Given the description of an element on the screen output the (x, y) to click on. 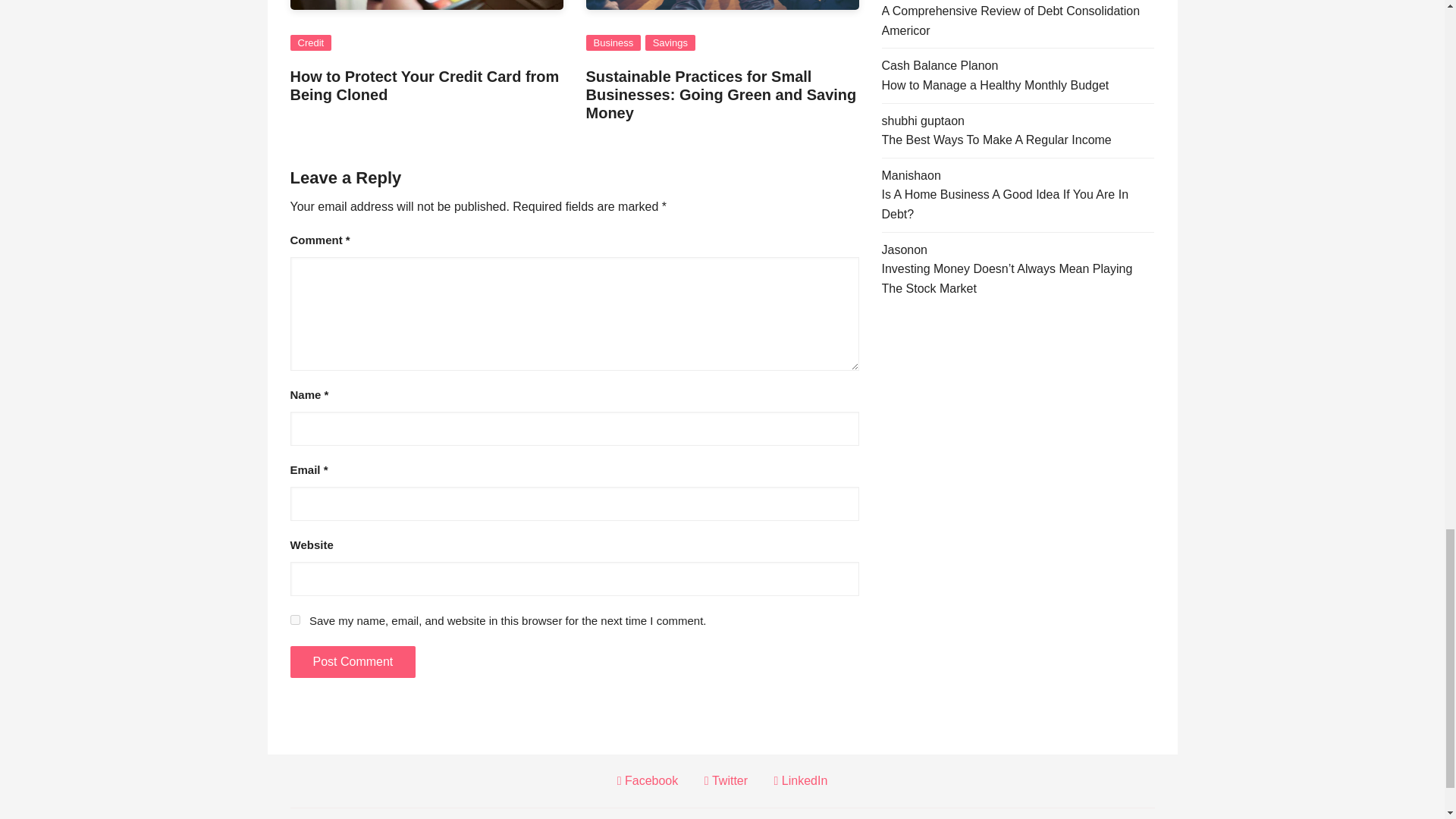
Business (612, 42)
Credit (310, 42)
Post Comment (351, 662)
How to Protect Your Credit Card from Being Cloned (424, 85)
yes (294, 619)
